Given the description of an element on the screen output the (x, y) to click on. 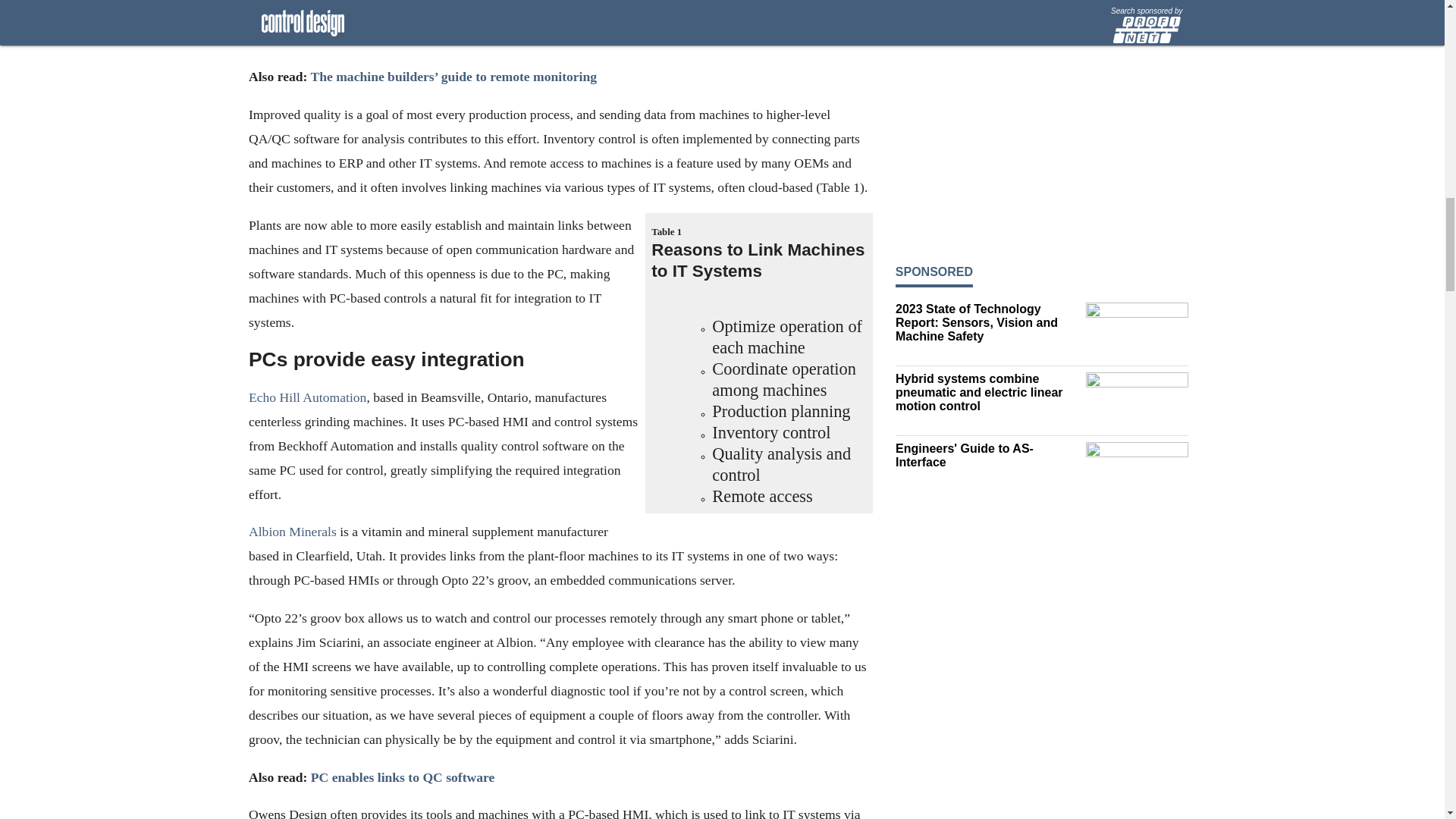
Echo Hill Automation (307, 396)
Albion Minerals (292, 531)
PC enables links to QC software (402, 776)
